Given the description of an element on the screen output the (x, y) to click on. 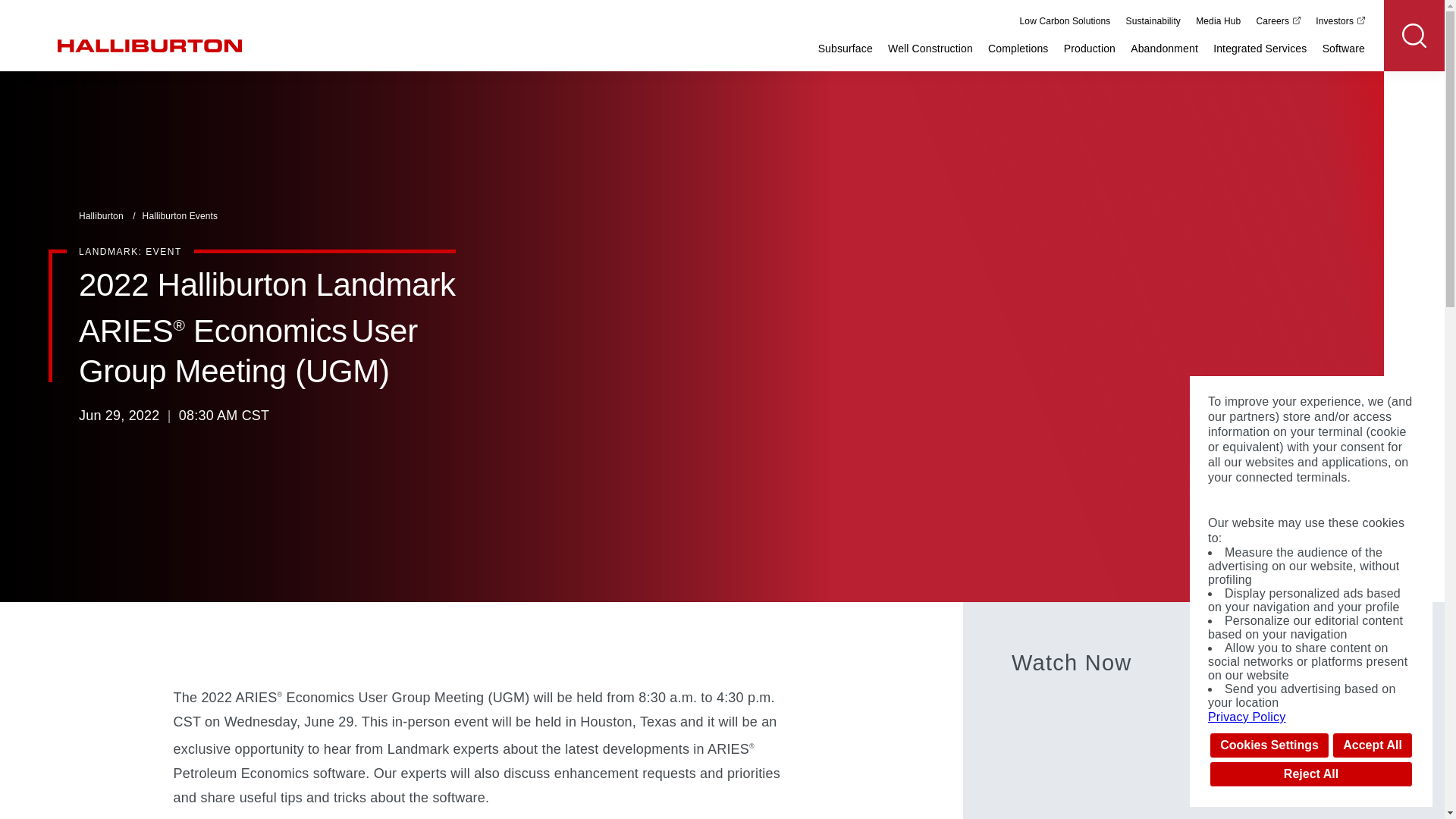
Subsurface (845, 48)
Accept All (1372, 745)
Reject All (1310, 774)
Halliburton Events (180, 215)
Cookies Settings (1269, 745)
Halliburton (101, 215)
Privacy Policy (1310, 717)
